Given the description of an element on the screen output the (x, y) to click on. 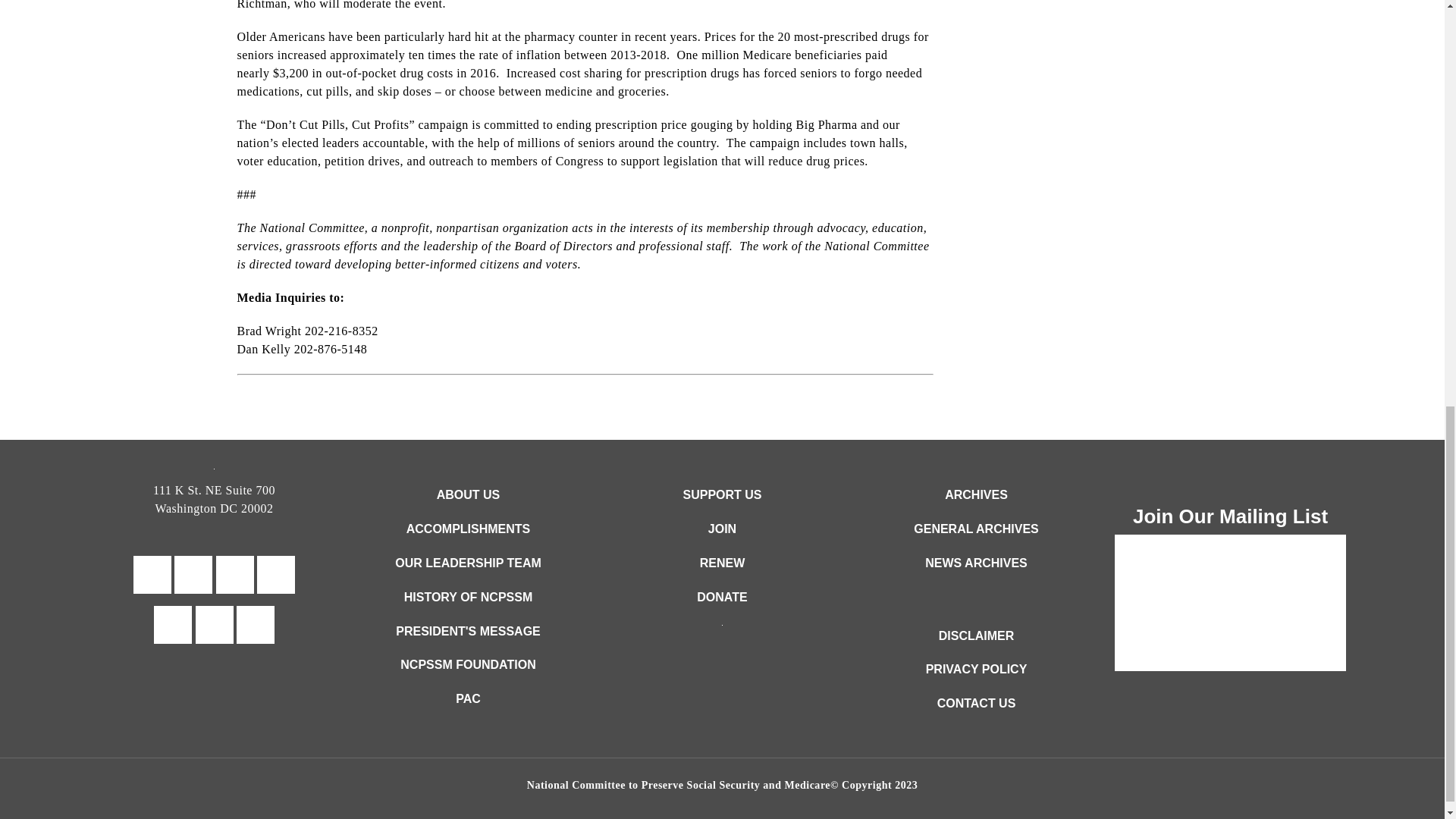
Check us out on Tumblr (234, 574)
Follow Us on Twitter (193, 574)
Watch Our YouTube Videos (276, 574)
See Our Photos on Pinterest (173, 624)
Visit us on Instagram (255, 624)
Connect with us on LinkedIn (213, 624)
Like Our Facebook Page (152, 574)
